Given the description of an element on the screen output the (x, y) to click on. 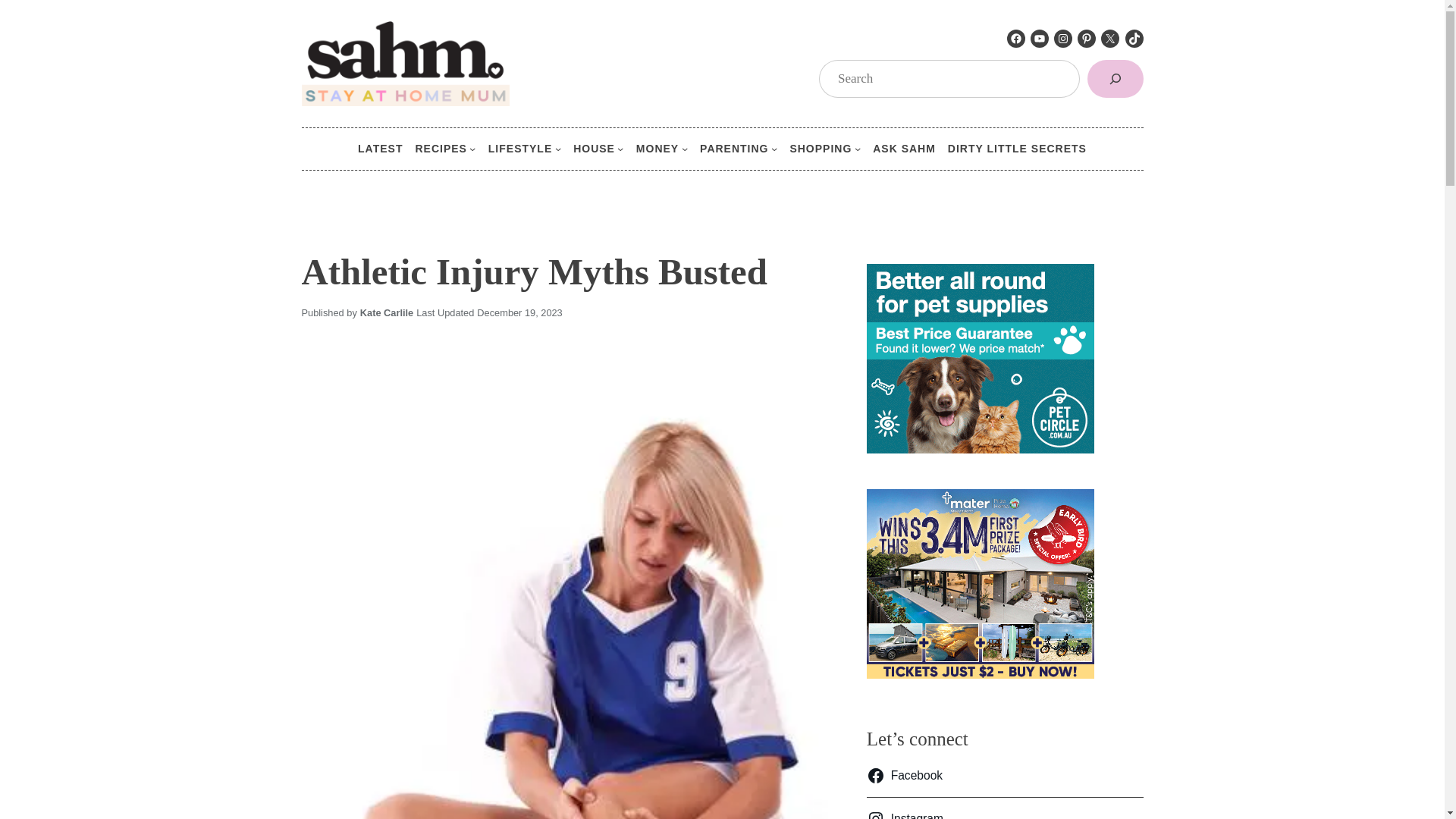
LIFESTYLE (519, 148)
MONEY (657, 148)
RECIPES (439, 148)
Instagram (1062, 38)
TikTok (1133, 38)
X (1109, 38)
Pinterest (1086, 38)
LATEST (380, 148)
Facebook (1016, 38)
YouTube (1039, 38)
